Given the description of an element on the screen output the (x, y) to click on. 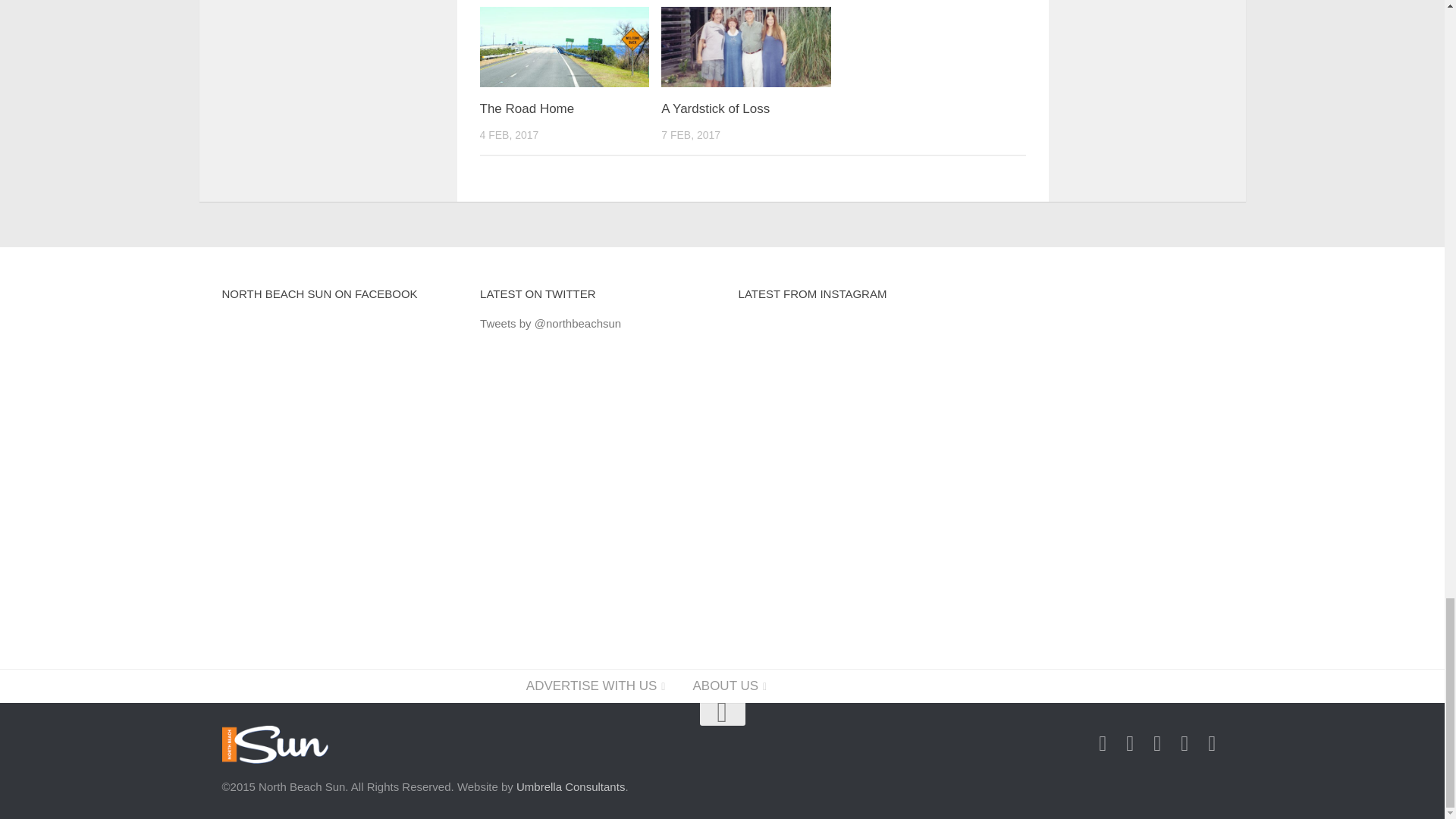
A Yardstick of Loss (715, 108)
A Yardstick of Loss (746, 46)
The Road Home (526, 108)
A Yardstick of Loss (715, 108)
The Road Home (564, 46)
The Road Home (526, 108)
